Given the description of an element on the screen output the (x, y) to click on. 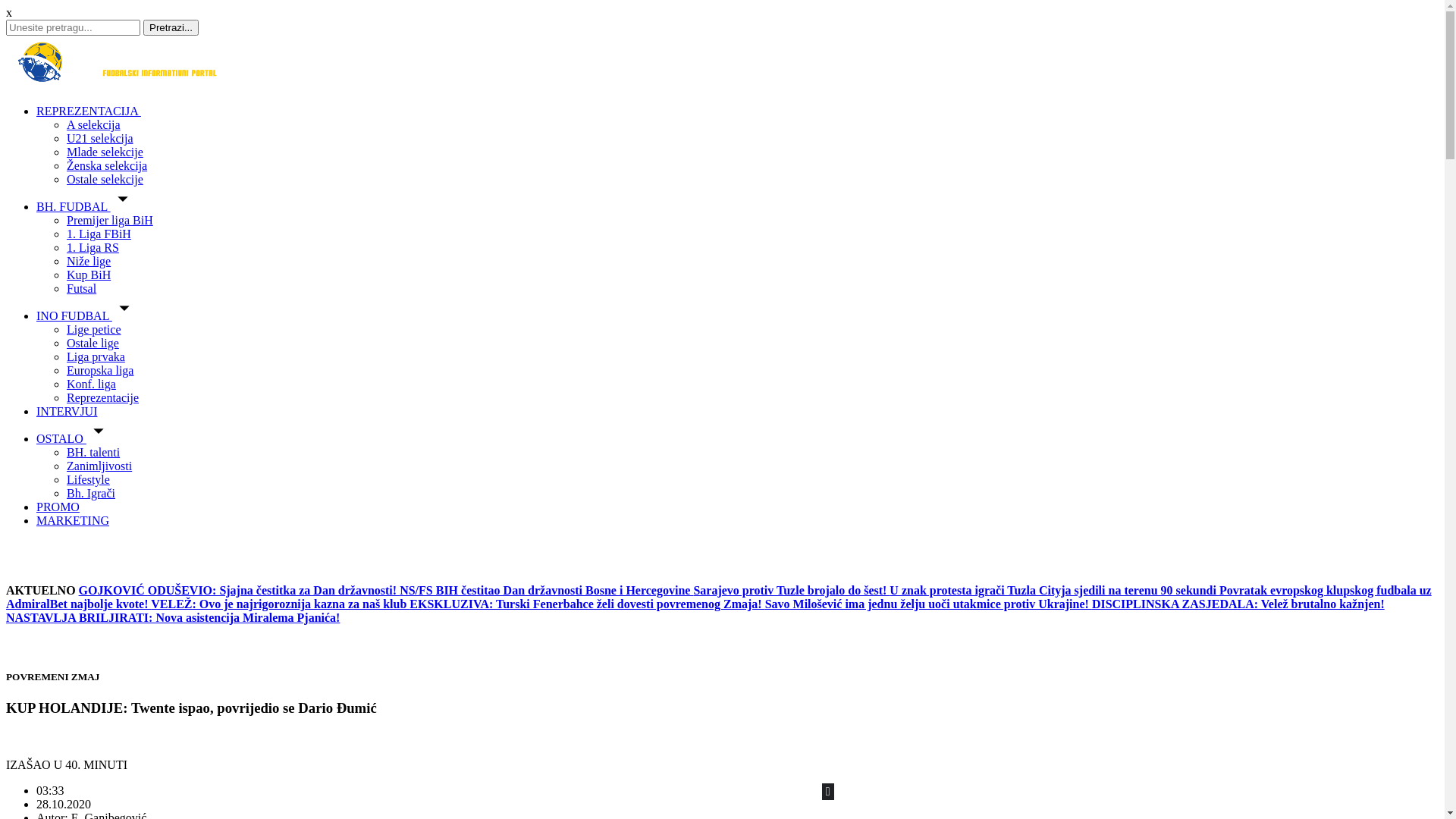
Pretrazi... Element type: text (170, 27)
OSTALO Element type: text (73, 438)
Premijer liga BiH Element type: text (109, 219)
Ostale selekcije Element type: text (104, 178)
A selekcija Element type: text (93, 124)
Reprezentacije Element type: text (102, 397)
U21 selekcija Element type: text (99, 137)
INTERVJUI Element type: text (66, 410)
Konf. liga Element type: text (91, 383)
INO FUDBAL Element type: text (86, 315)
BH. talenti Element type: text (92, 451)
Lige petice Element type: text (93, 329)
REPREZENTACIJA Element type: text (88, 110)
Lifestyle Element type: text (87, 479)
BH. FUDBAL Element type: text (85, 206)
Europska liga Element type: text (99, 370)
Liga prvaka Element type: text (95, 356)
PROMO Element type: text (57, 506)
1. Liga RS Element type: text (92, 247)
Mlade selekcije Element type: text (104, 151)
MARKETING Element type: text (72, 520)
Zanimljivosti Element type: text (98, 465)
Ostale lige Element type: text (92, 342)
Futsal Element type: text (81, 288)
Kup BiH Element type: text (88, 274)
1. Liga FBiH Element type: text (98, 233)
